Given the description of an element on the screen output the (x, y) to click on. 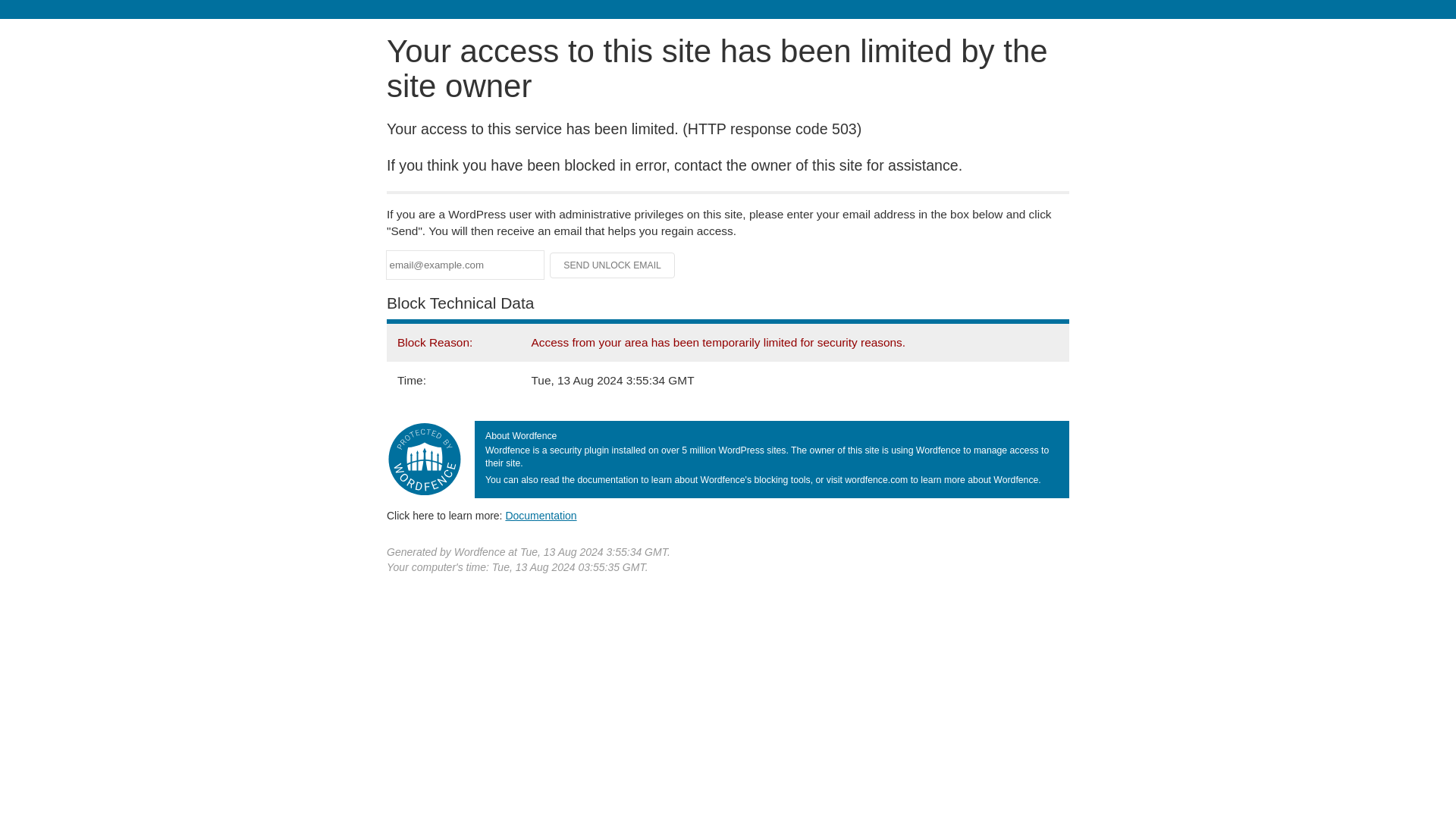
Documentation (540, 515)
Send Unlock Email (612, 265)
Send Unlock Email (612, 265)
